Given the description of an element on the screen output the (x, y) to click on. 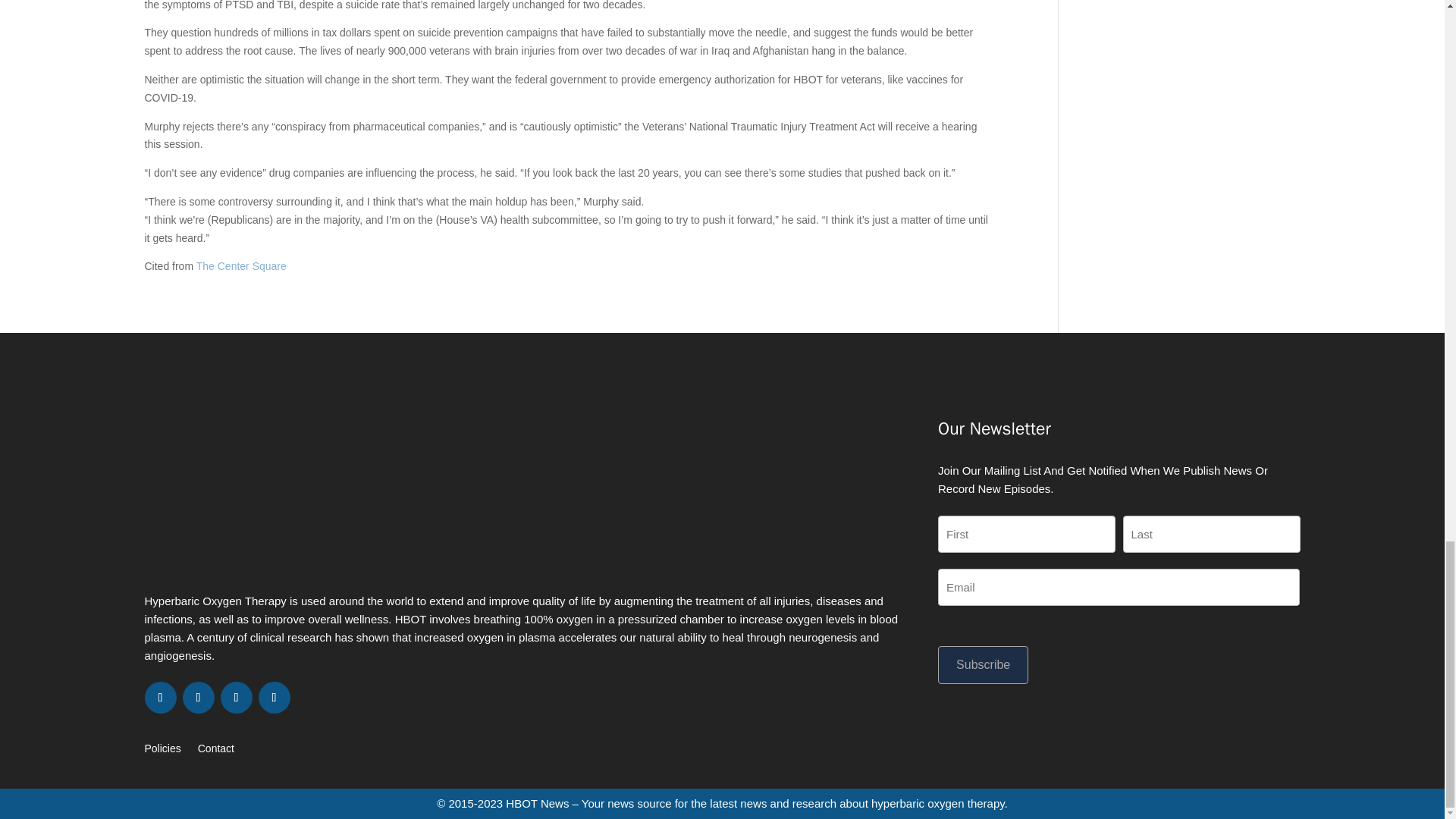
The Center Square (241, 265)
Follow on Facebook (160, 697)
Follow on Instagram (235, 697)
HBOT News Network Logo Color (352, 498)
Follow on Youtube (273, 697)
Subscribe (982, 664)
Follow on X (198, 697)
